Given the description of an element on the screen output the (x, y) to click on. 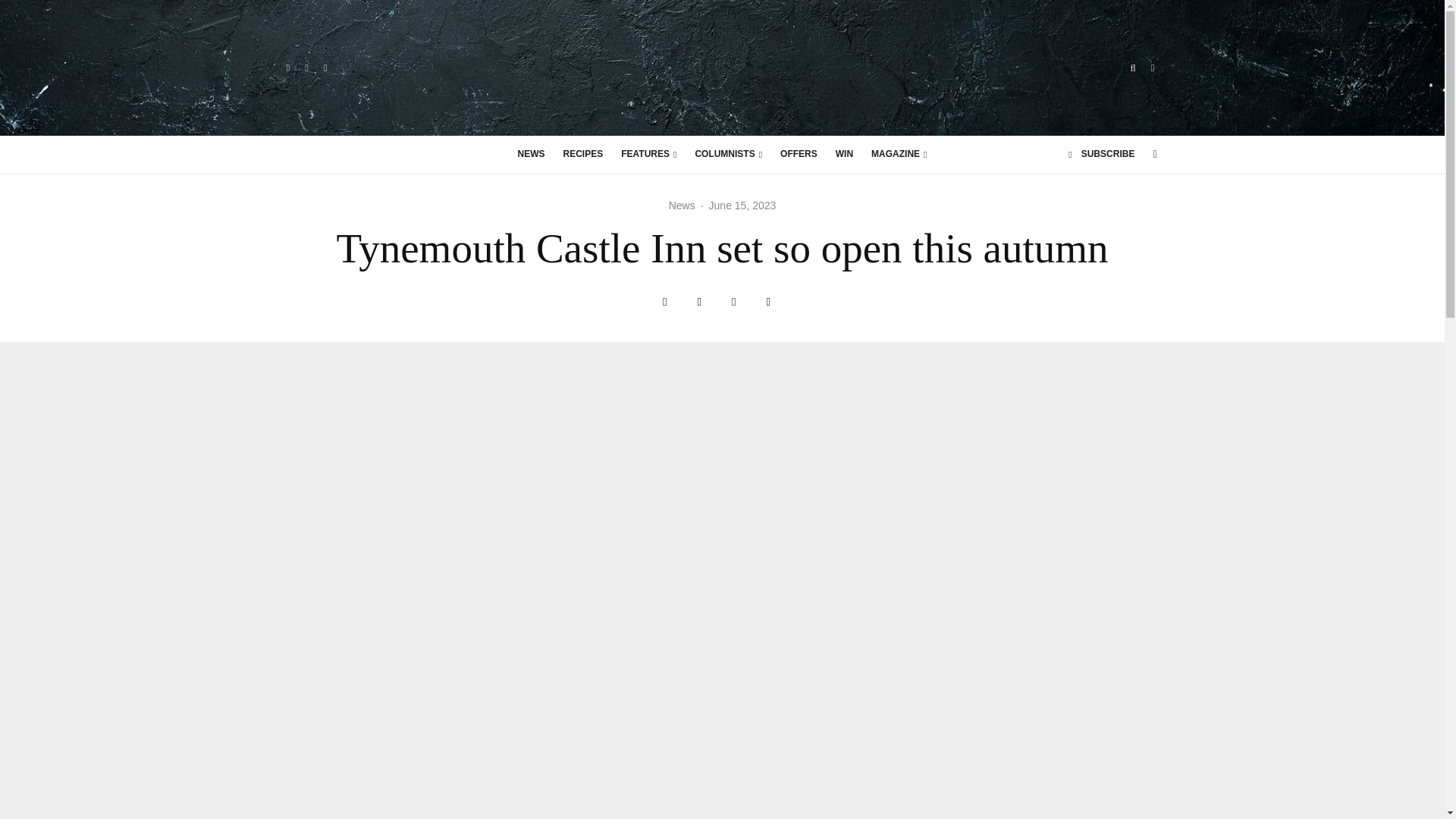
NEWS (531, 154)
RECIPES (583, 154)
FEATURES (648, 154)
